Given the description of an element on the screen output the (x, y) to click on. 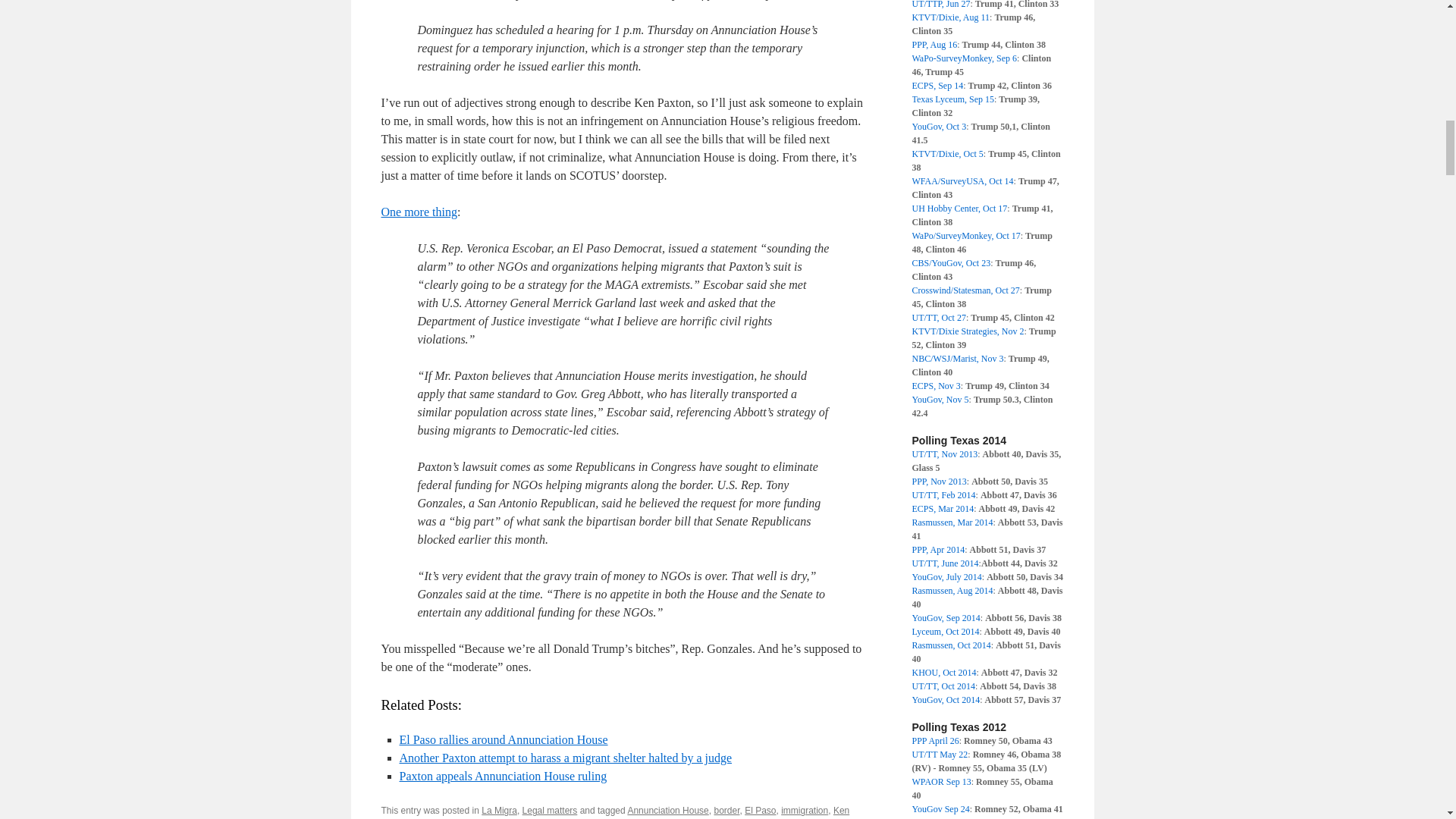
Paxton appeals Annunciation House ruling (502, 775)
El Paso rallies around Annunciation House (502, 739)
immigration (804, 810)
Legal matters (550, 810)
El Paso rallies around Annunciation House (502, 739)
La Migra (498, 810)
Annunciation House (667, 810)
One more thing (418, 211)
Paxton appeals Annunciation House ruling (502, 775)
